Given the description of an element on the screen output the (x, y) to click on. 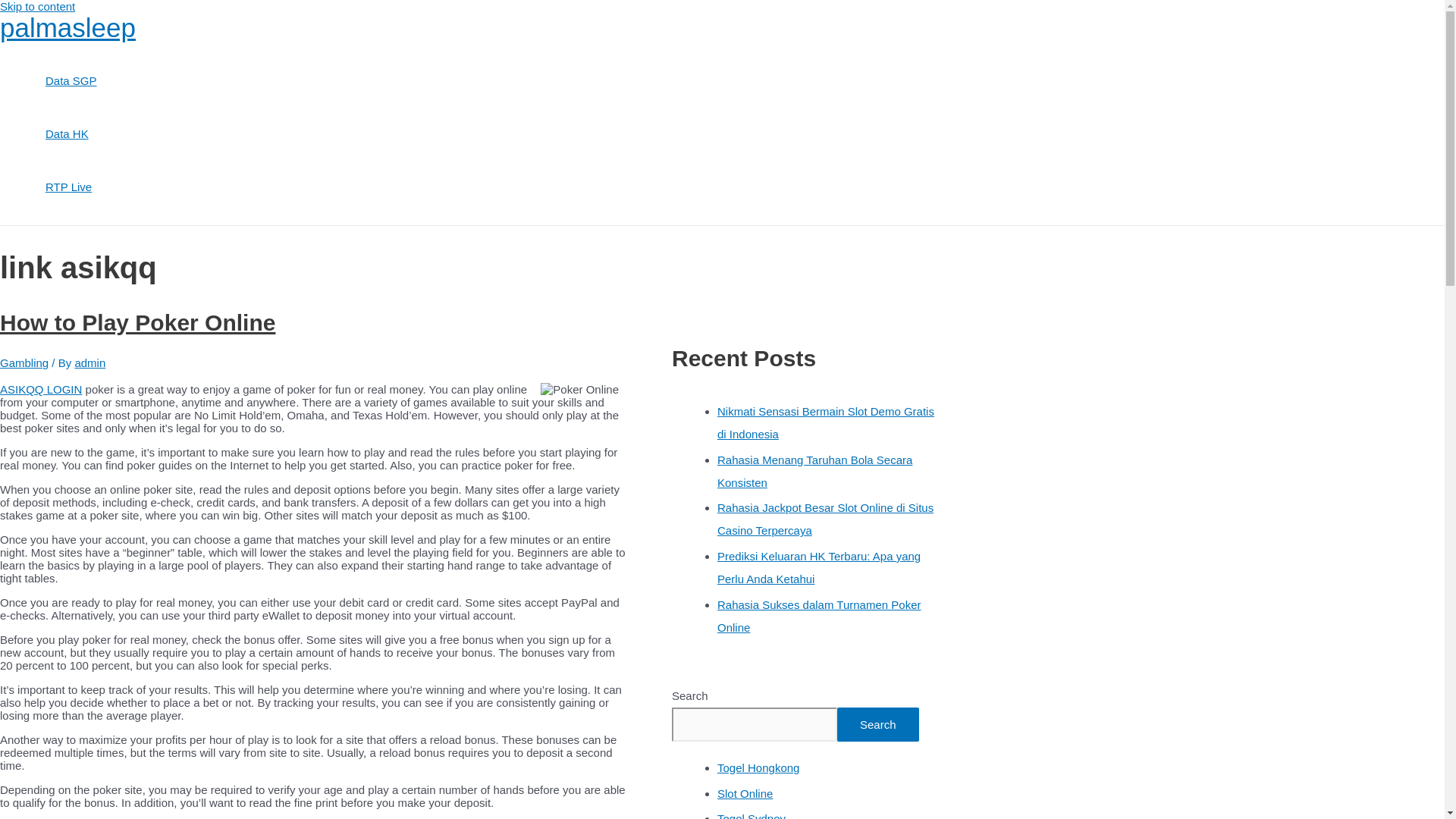
Data HK (71, 133)
palmasleep (67, 27)
Slot Online (745, 793)
Rahasia Menang Taruhan Bola Secara Konsisten (814, 470)
Gambling (24, 362)
admin (89, 362)
Rahasia Jackpot Besar Slot Online di Situs Casino Terpercaya (825, 519)
RTP Live (71, 186)
Togel Hongkong (758, 767)
View all posts by admin (89, 362)
How to Play Poker Online (137, 322)
Skip to content (37, 6)
Data SGP (71, 80)
ASIKQQ LOGIN (40, 389)
Skip to content (37, 6)
